Given the description of an element on the screen output the (x, y) to click on. 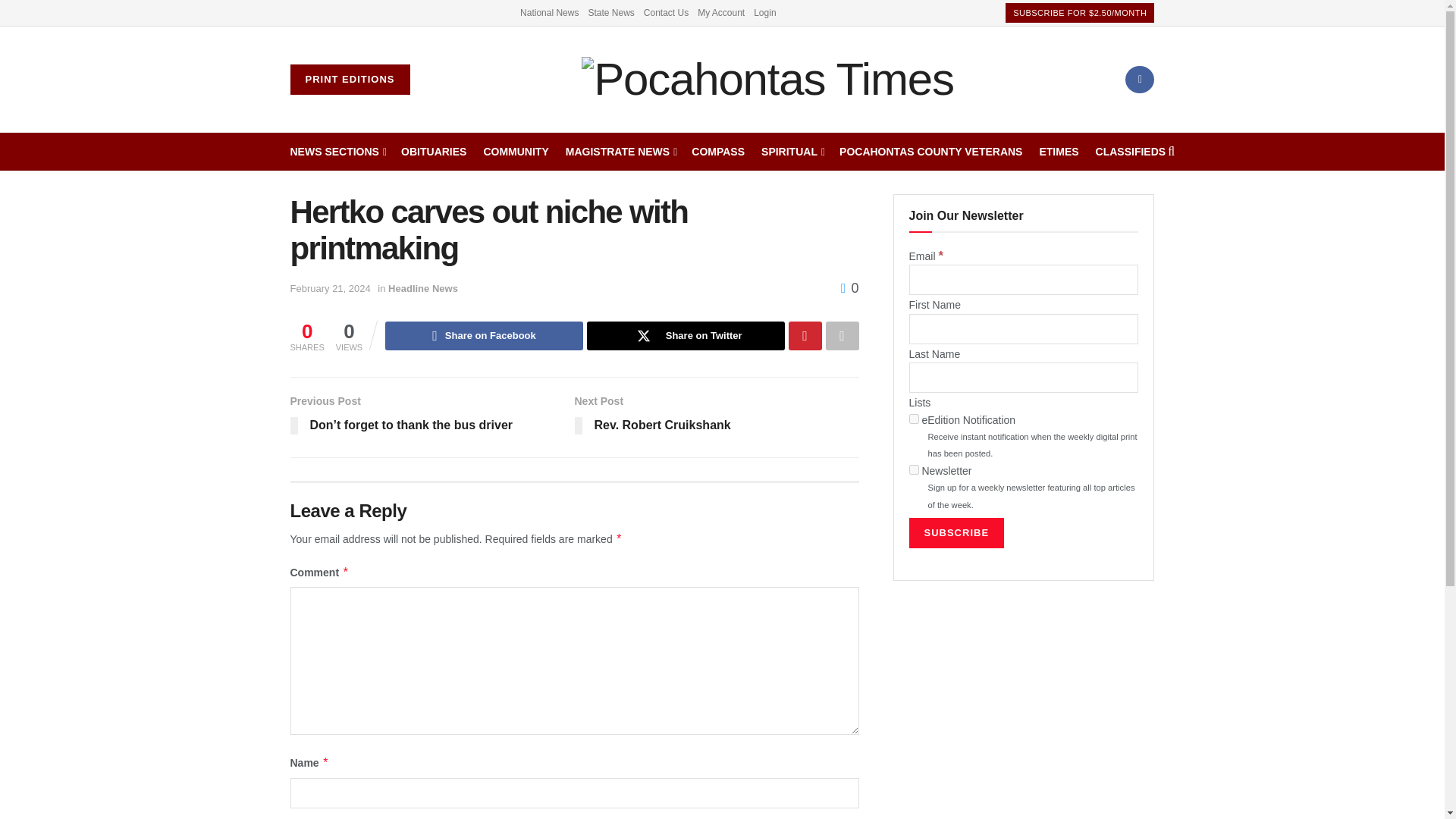
Contact Us (665, 12)
OBITUARIES (433, 151)
PRINT EDITIONS (349, 79)
1 (913, 419)
State News (610, 12)
February 21, 2024 (329, 288)
POCAHONTAS COUNTY VETERANS (931, 151)
My Account (720, 12)
ETIMES (1058, 151)
